Given the description of an element on the screen output the (x, y) to click on. 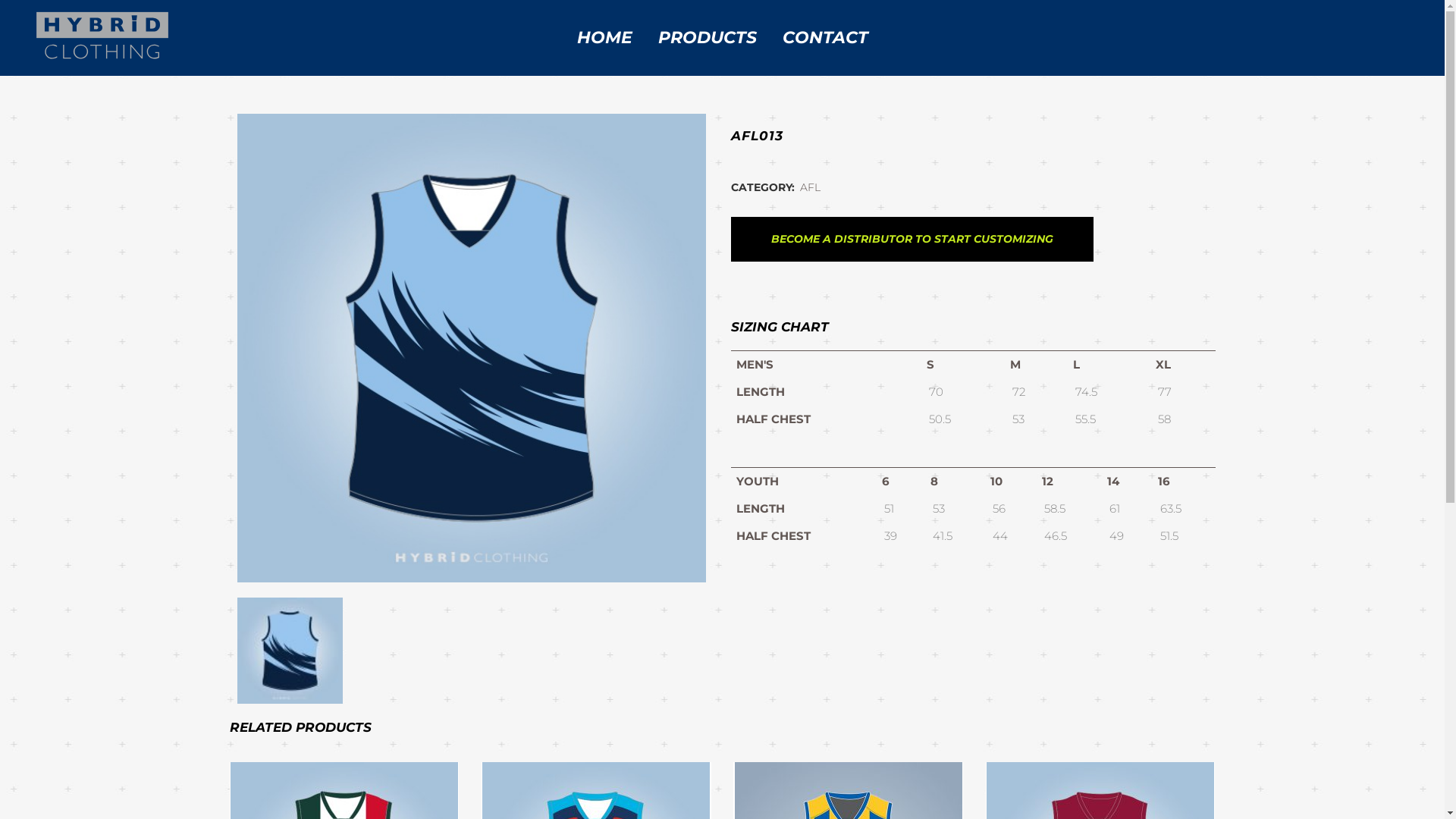
afl013back Element type: hover (289, 650)
HOME Element type: text (604, 37)
CONTACT Element type: text (824, 37)
AFL Element type: text (810, 187)
afl013front Element type: hover (470, 347)
PRODUCTS Element type: text (706, 37)
BECOME A DISTRIBUTOR TO START CUSTOMIZING Element type: text (912, 238)
